Given the description of an element on the screen output the (x, y) to click on. 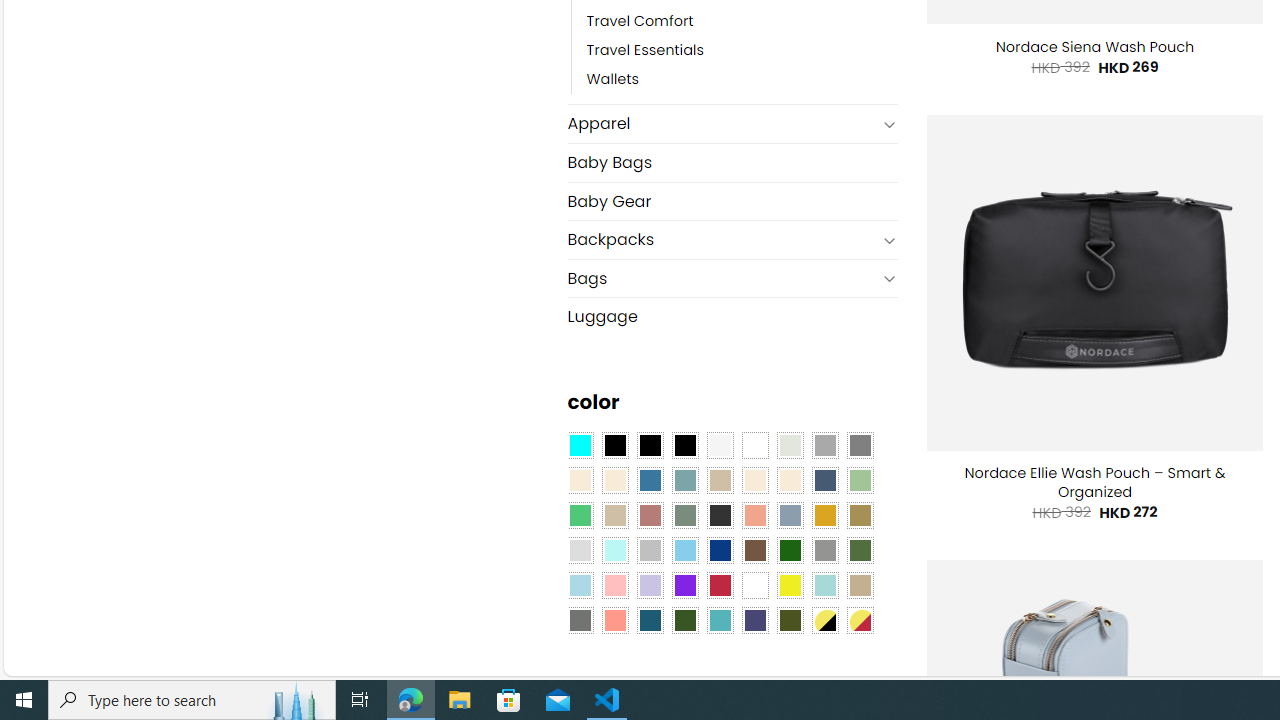
Caramel (755, 480)
Charcoal (719, 514)
Red (719, 584)
Cream (789, 480)
White (755, 584)
Light Blue (579, 584)
Baby Bags (732, 161)
Gold (824, 514)
Black (650, 444)
Nordace Siena Wash Pouch (1094, 47)
Wallets (742, 79)
Light Green (859, 480)
Dull Nickle (579, 619)
Travel Comfort (639, 21)
